Given the description of an element on the screen output the (x, y) to click on. 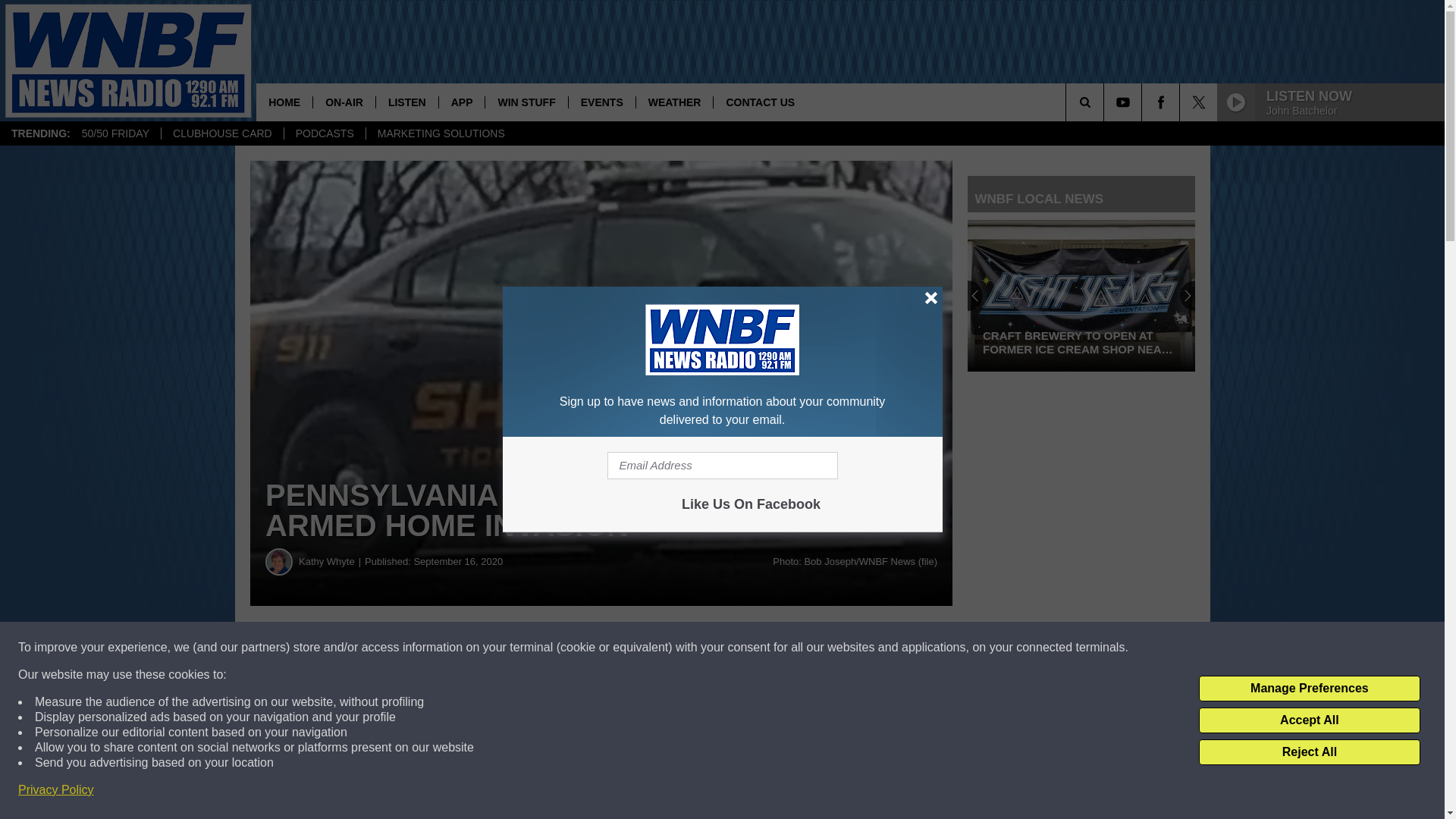
Accept All (1309, 720)
WIN STUFF (525, 102)
CONTACT US (759, 102)
WEATHER (673, 102)
PODCASTS (324, 133)
HOME (284, 102)
Reject All (1309, 751)
EVENTS (600, 102)
ON-AIR (344, 102)
CLUBHOUSE CARD (221, 133)
SEARCH (1106, 102)
Share on Facebook (460, 647)
Share on Twitter (741, 647)
Email Address (722, 465)
Privacy Policy (55, 789)
